Given the description of an element on the screen output the (x, y) to click on. 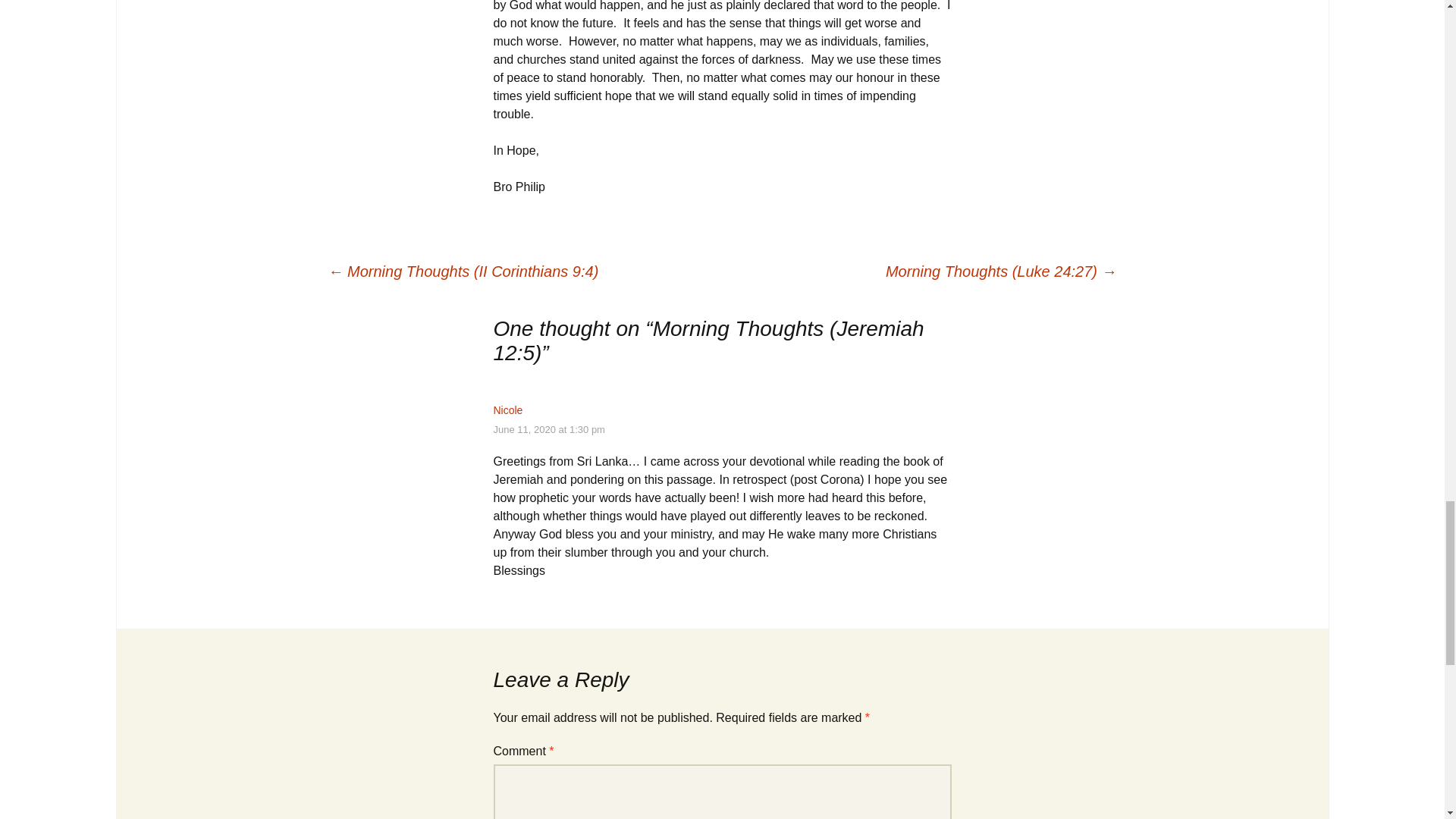
June 11, 2020 at 1:30 pm (548, 429)
